Given the description of an element on the screen output the (x, y) to click on. 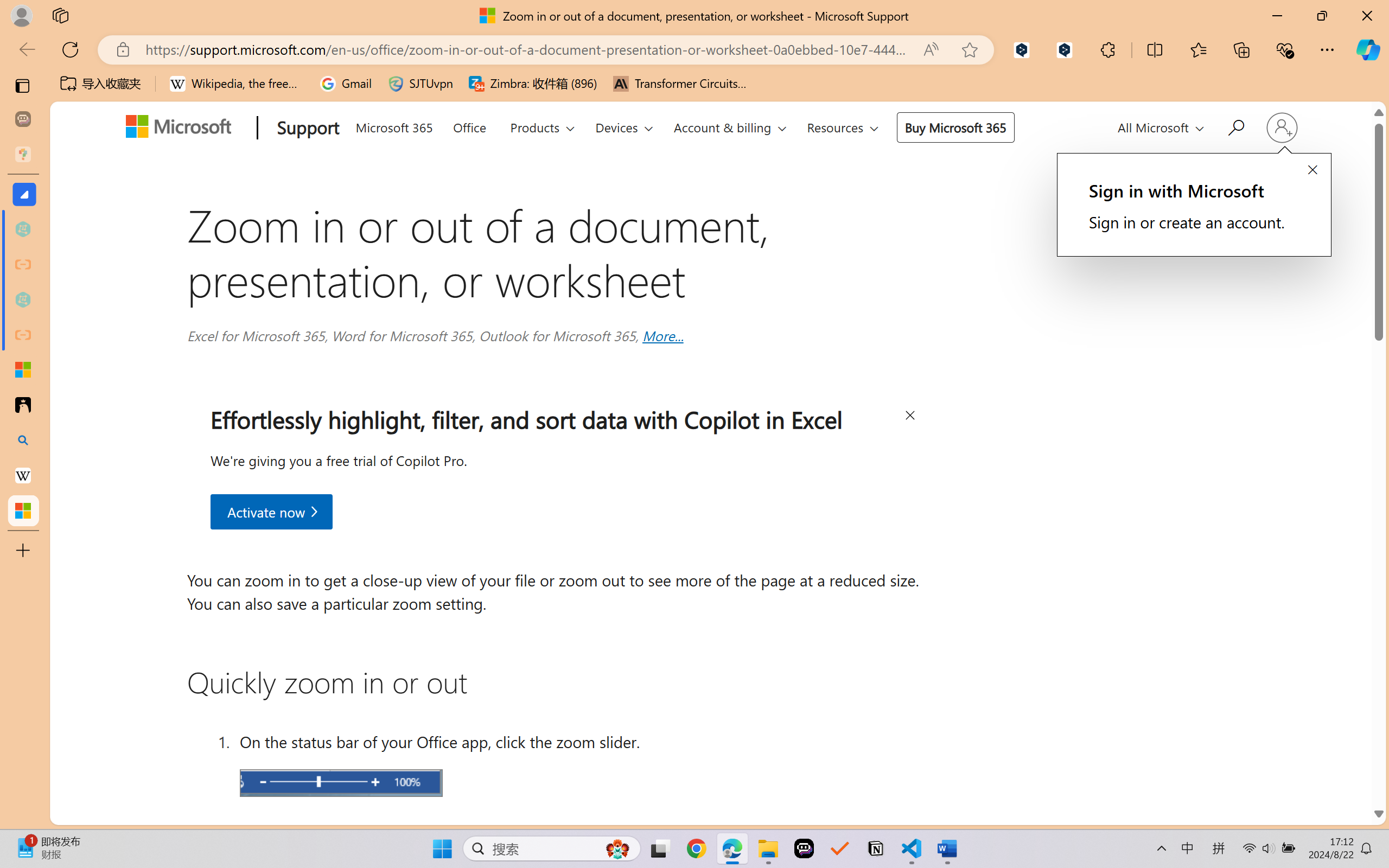
SJTUvpn (419, 83)
Search for help (1234, 126)
Microsoft 365 (394, 125)
